Given the description of an element on the screen output the (x, y) to click on. 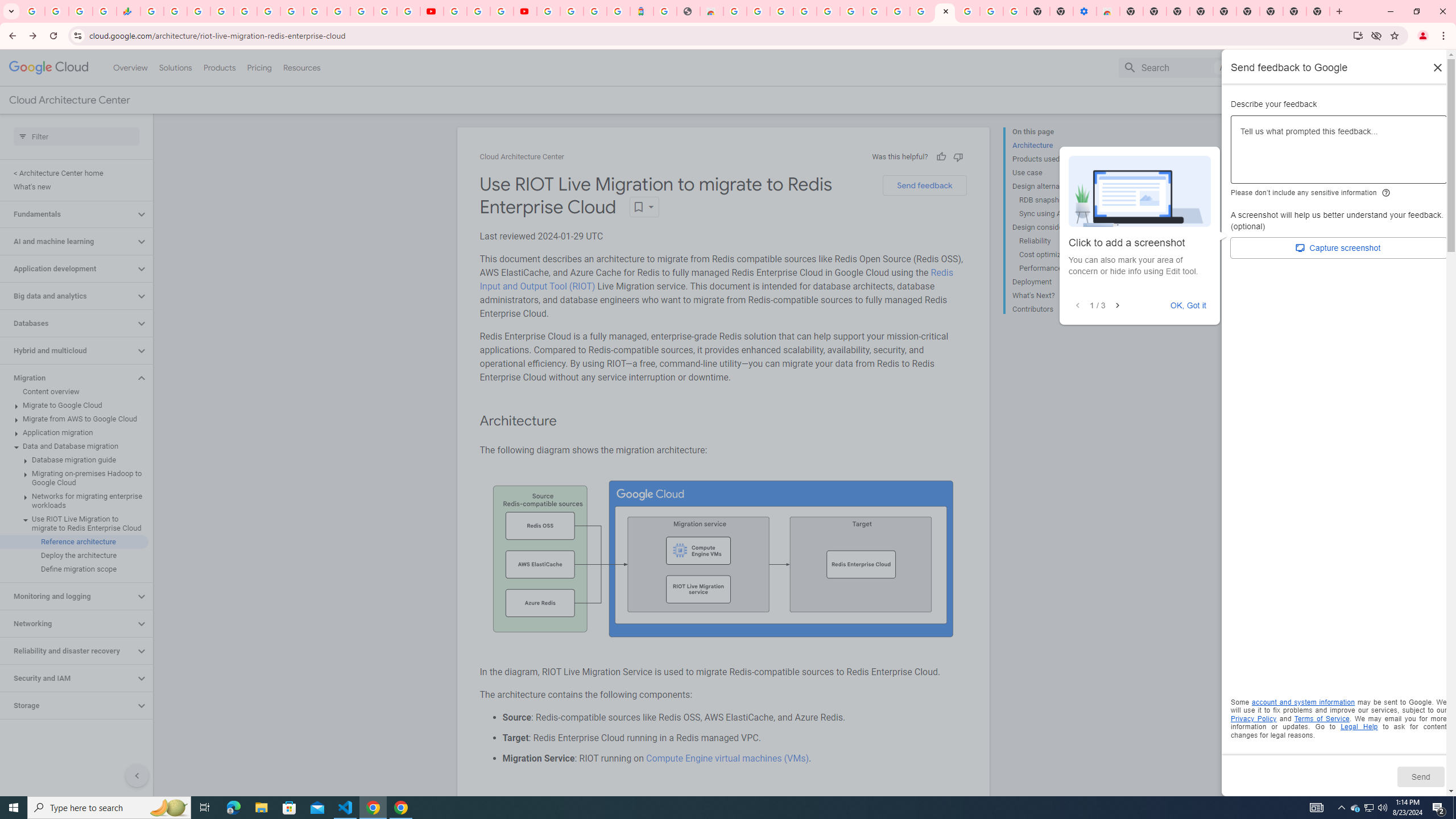
Databases (67, 323)
Security and IAM (67, 678)
Not helpful (957, 156)
Google Account Help (850, 11)
Content overview (74, 391)
Send feedback (924, 185)
< Architecture Center home (74, 173)
Storage (67, 705)
Products used (1058, 159)
Chrome Web Store - Accessibility extensions (1108, 11)
Turn cookies on or off - Computer - Google Account Help (1015, 11)
Sign in - Google Accounts (338, 11)
Docs, selected (1264, 67)
